Given the description of an element on the screen output the (x, y) to click on. 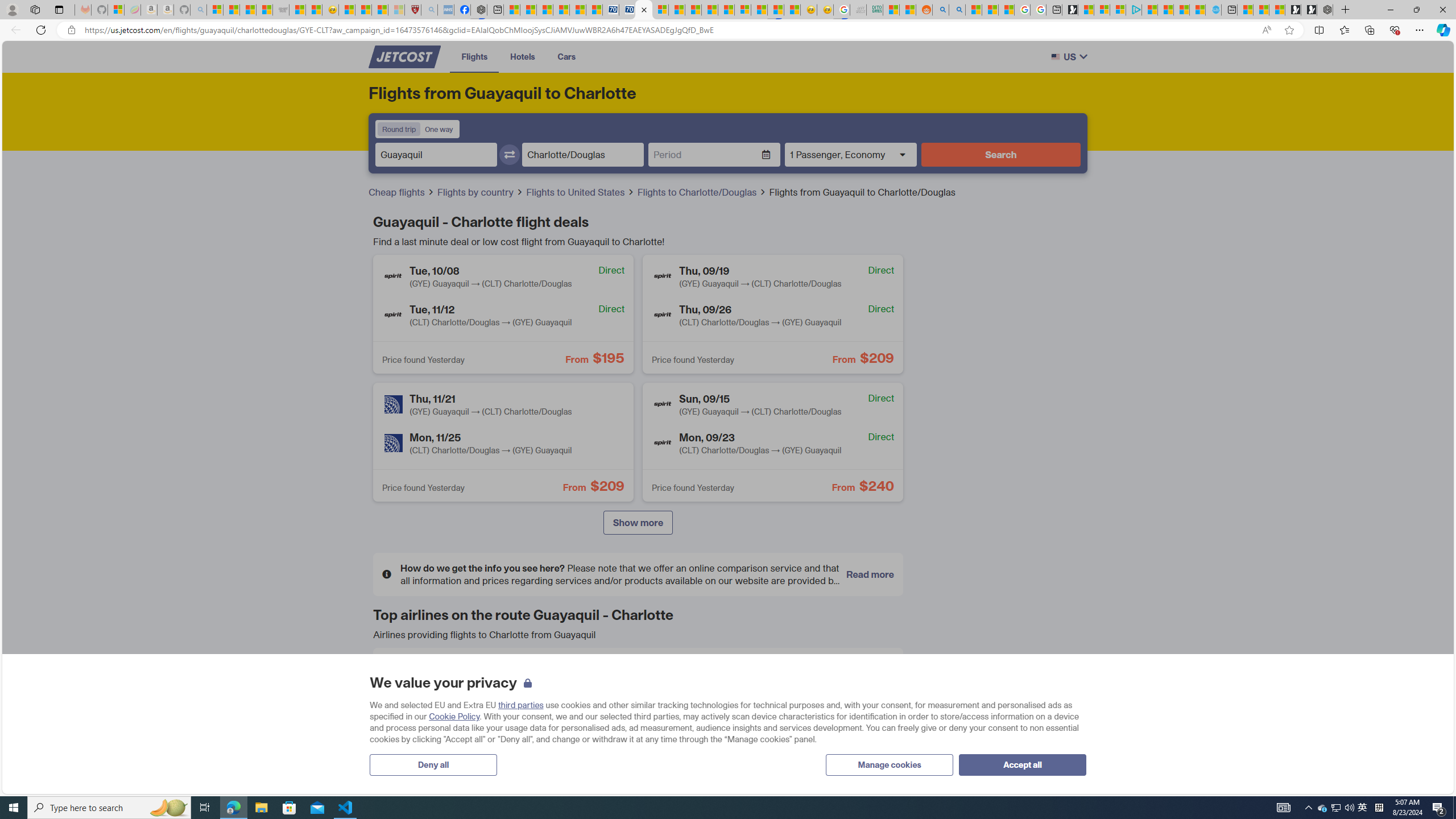
American Airlines American Airlines (465, 675)
12 Popular Science Lies that Must be Corrected - Sleeping (395, 9)
Flights to Charlotte/Douglas (697, 191)
Deny all (432, 764)
Flights by country (480, 191)
Robert H. Shmerling, MD - Harvard Health (413, 9)
14 Common Myths Debunked By Scientific Facts (709, 9)
Avianca (572, 674)
Recipes - MSN (346, 9)
Class: w-full h-auto rounded-sm border border-gray-200 (1054, 56)
